Given the description of an element on the screen output the (x, y) to click on. 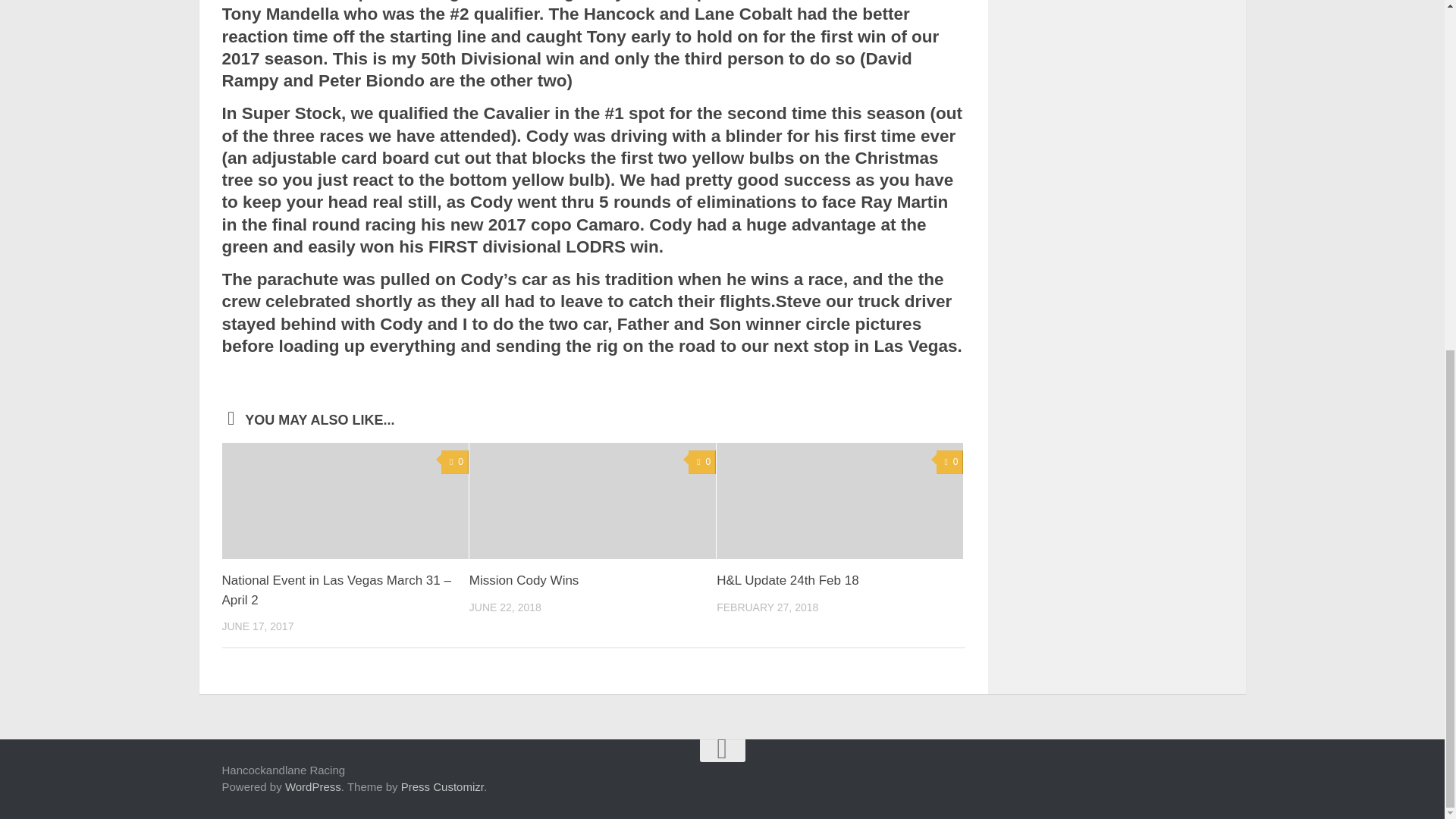
Press Customizr (442, 786)
Mission Cody Wins (523, 580)
Mission Cody Wins (592, 500)
0 (702, 462)
0 (454, 462)
Mission Cody Wins (523, 580)
0 (949, 462)
WordPress (312, 786)
